Given the description of an element on the screen output the (x, y) to click on. 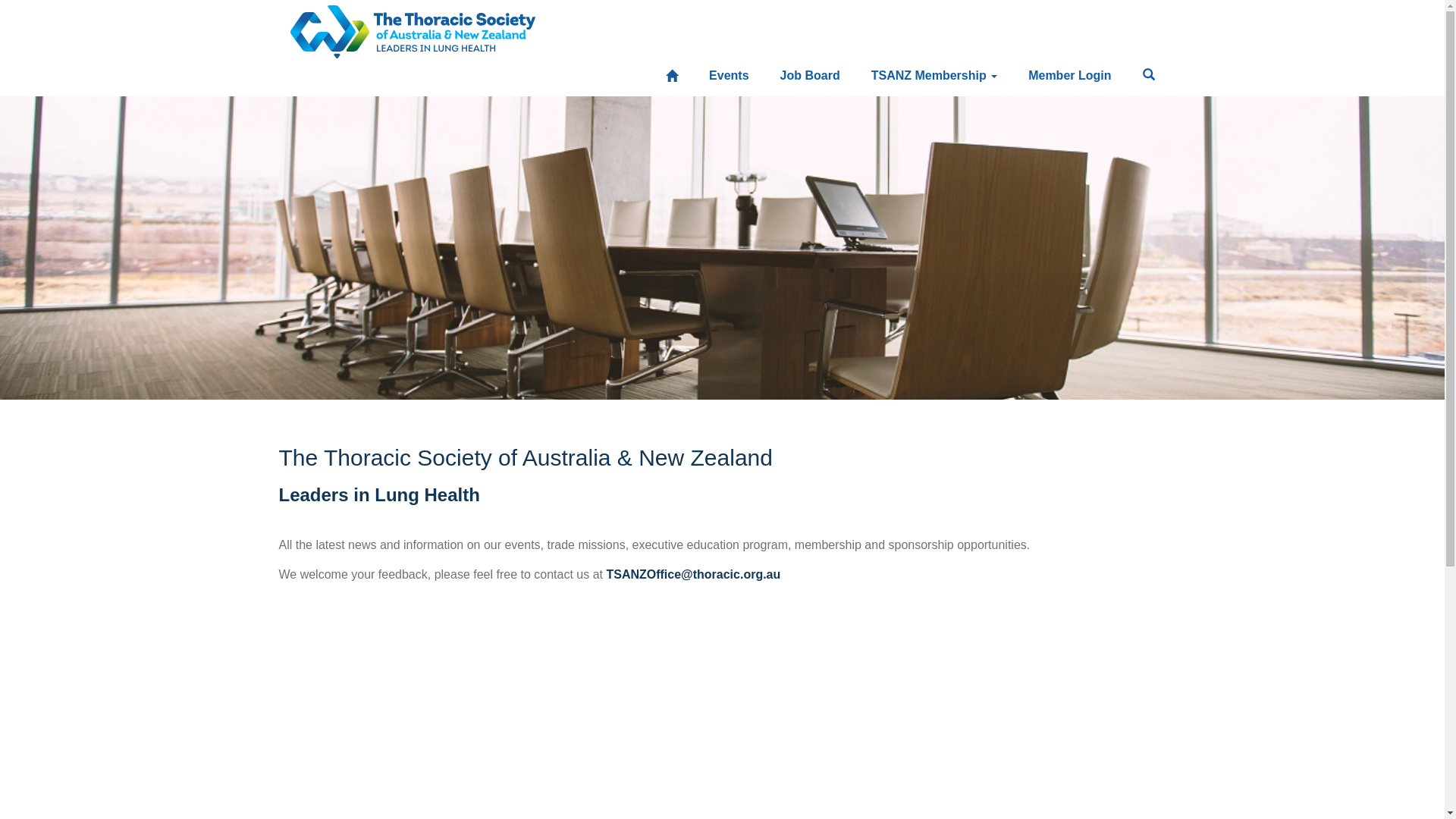
Job Board Element type: text (809, 75)
TSANZ Membership Element type: text (933, 75)
Search Element type: hover (1148, 75)
Home Element type: hover (671, 76)
TSANZOffice@thoracic.org.au Element type: text (692, 573)
AICC Portal Element type: hover (411, 26)
Member Login Element type: text (1069, 75)
Events Element type: text (728, 75)
